Given the description of an element on the screen output the (x, y) to click on. 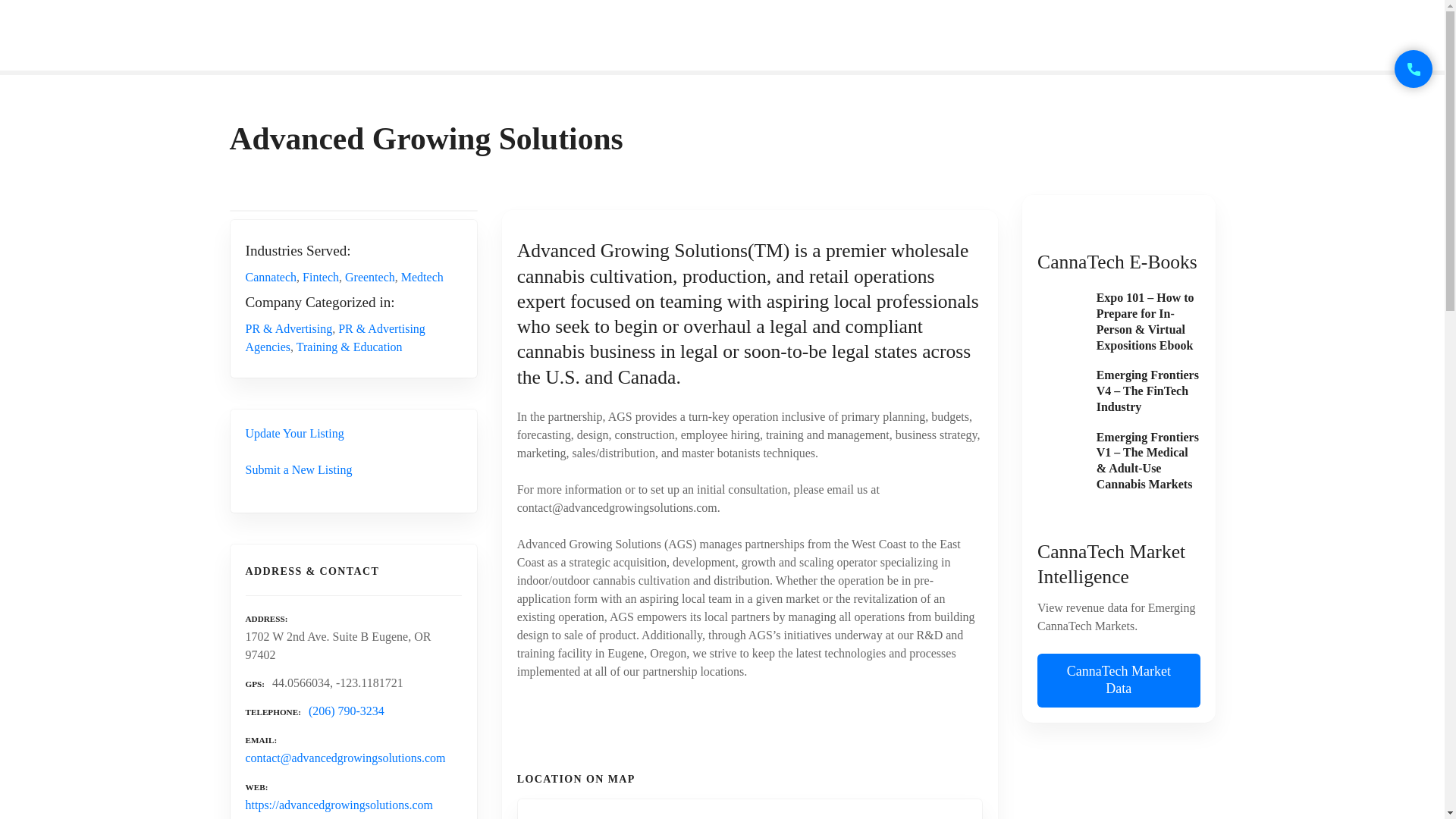
Fintech (320, 277)
Update Your Listing (294, 432)
Cannatech (271, 277)
Greentech (369, 277)
Submit a New Listing (299, 469)
Medtech (422, 277)
